Given the description of an element on the screen output the (x, y) to click on. 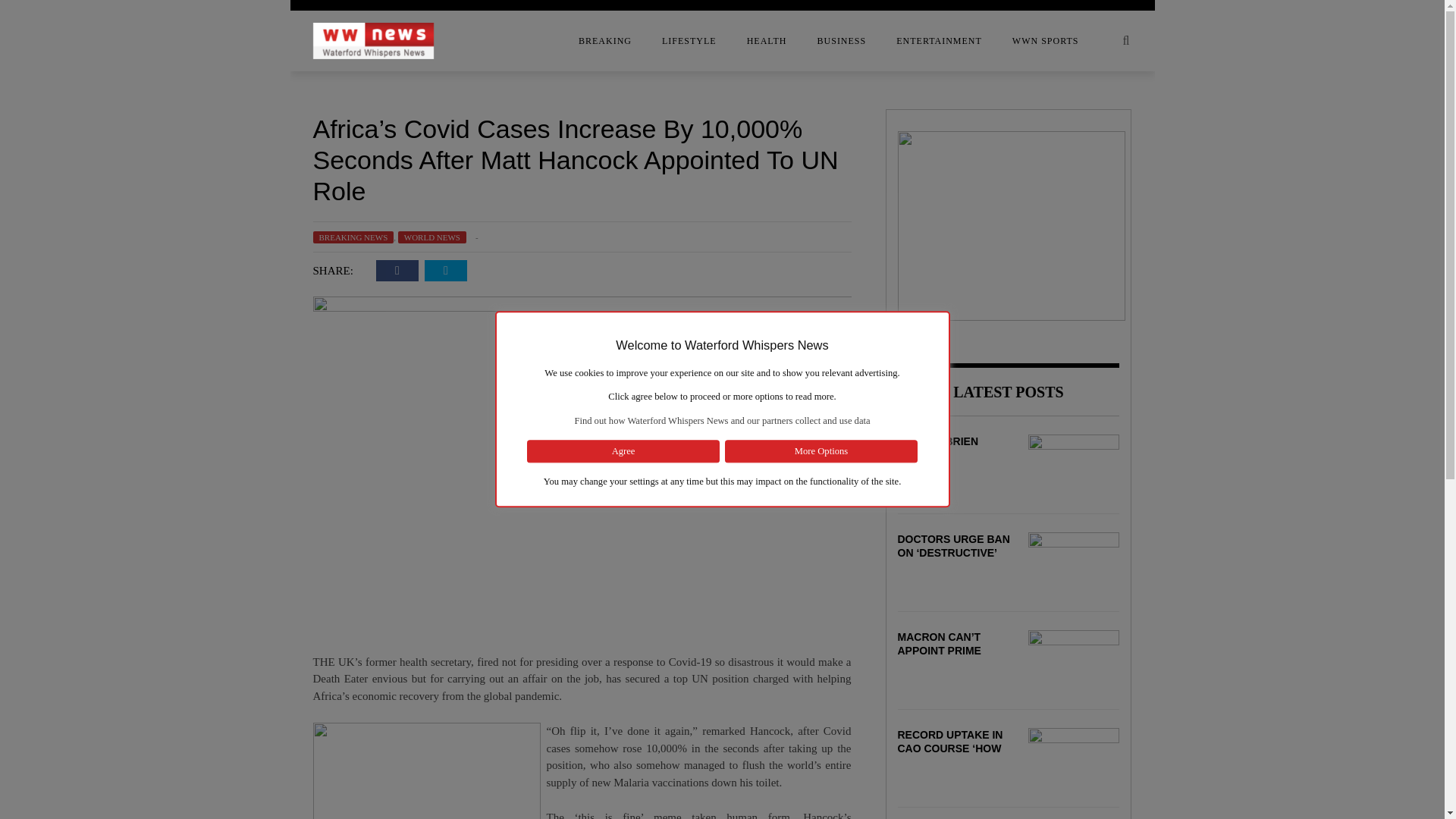
YOUR PRIVACY SETTINGS (191, 268)
HOMEPAGE (191, 177)
PRIVACY (191, 237)
BREAKING (604, 40)
DISCLAIMER (191, 146)
CONTACT US (191, 116)
NEWSLETTER SIGN UP FORM (191, 207)
COMPETITION RULES (191, 86)
